Given the description of an element on the screen output the (x, y) to click on. 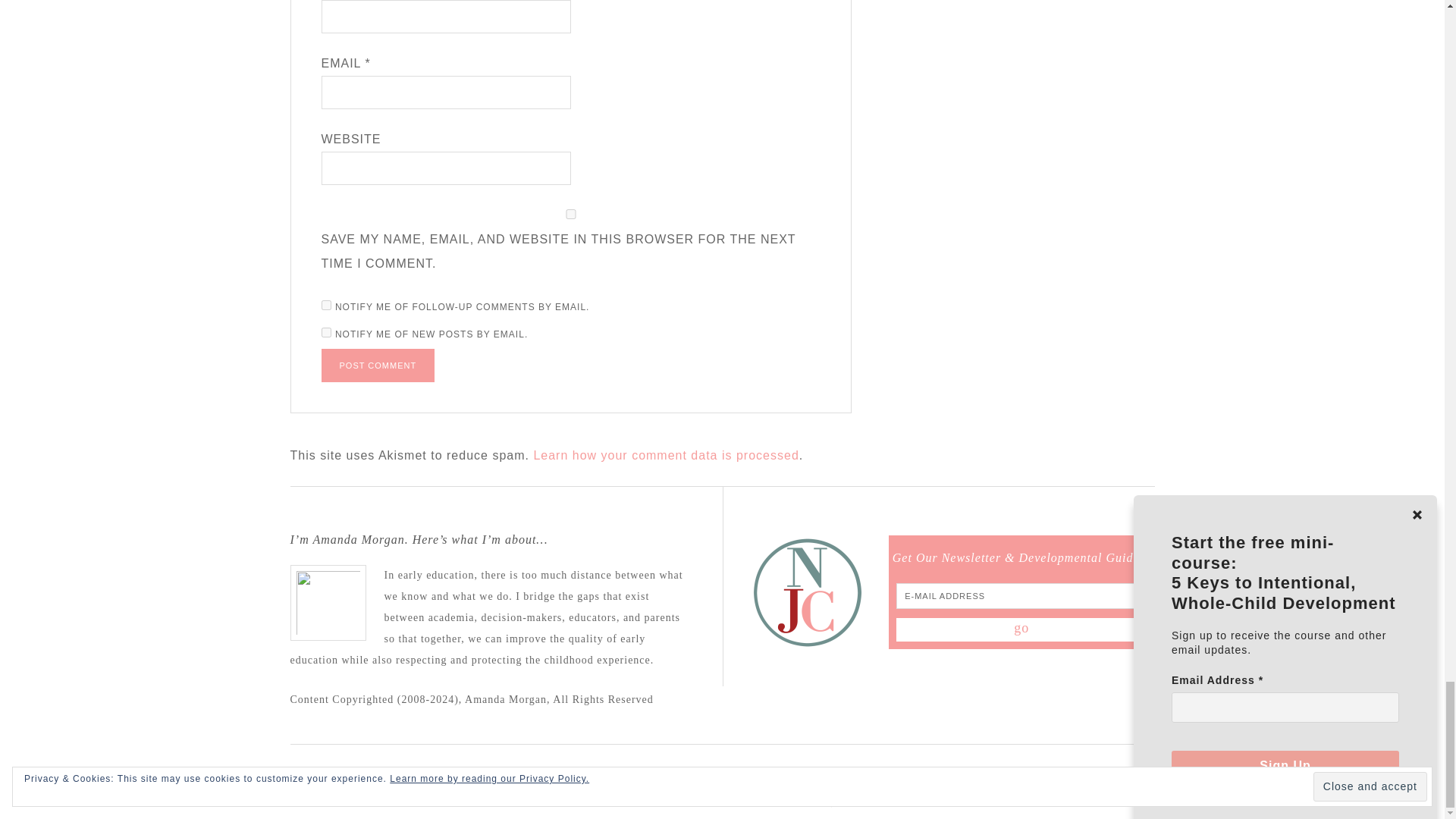
Go (1021, 629)
Post Comment (378, 365)
subscribe (326, 332)
Learn how your comment data is processed (664, 454)
Post Comment (378, 365)
subscribe (326, 305)
yes (571, 214)
